Given the description of an element on the screen output the (x, y) to click on. 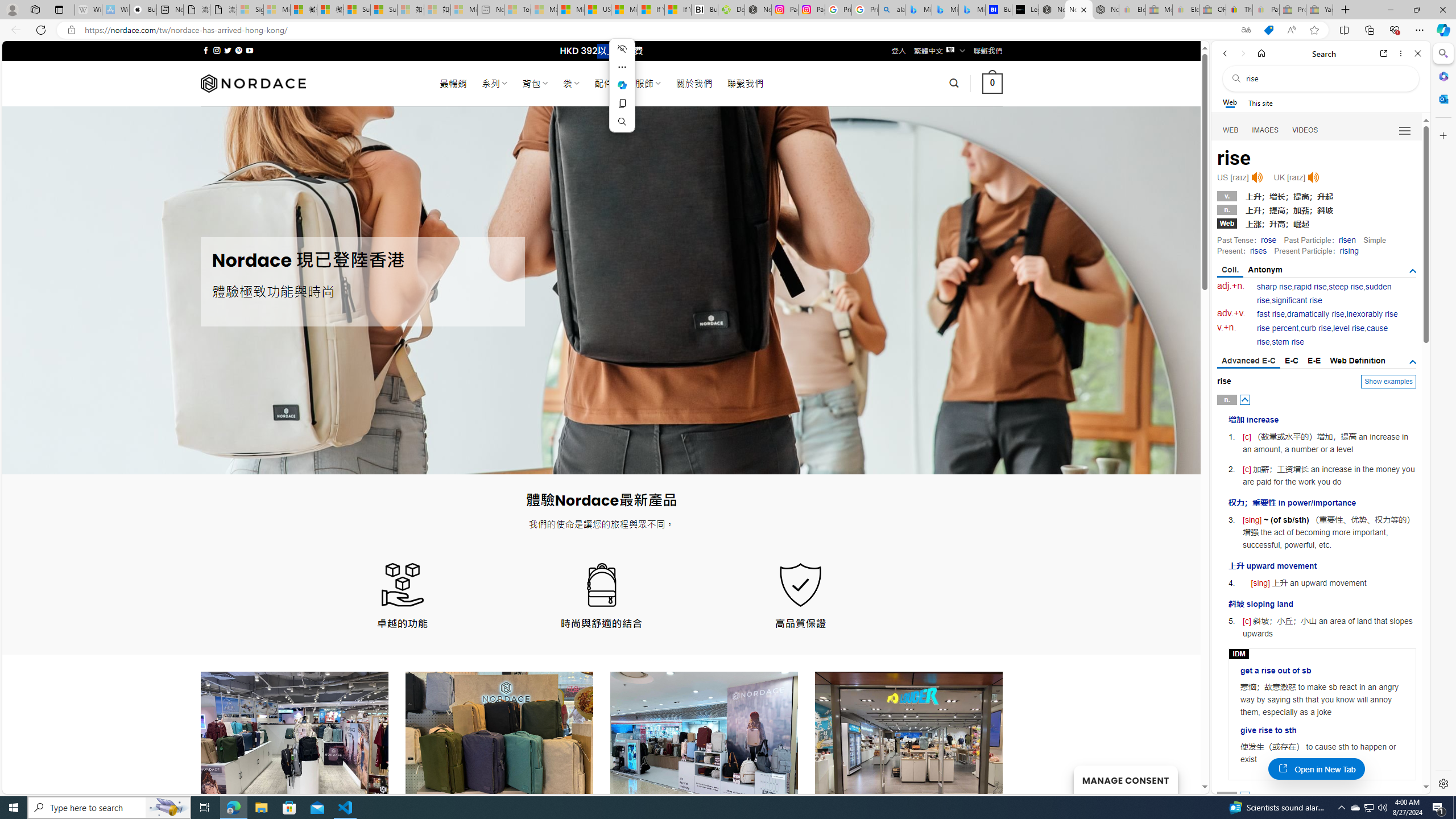
level rise (1349, 328)
inexorably rise (1371, 313)
US Heat Deaths Soared To Record High Last Year (597, 9)
Follow on Facebook (205, 50)
Microsoft Services Agreement - Sleeping (277, 9)
